Given the description of an element on the screen output the (x, y) to click on. 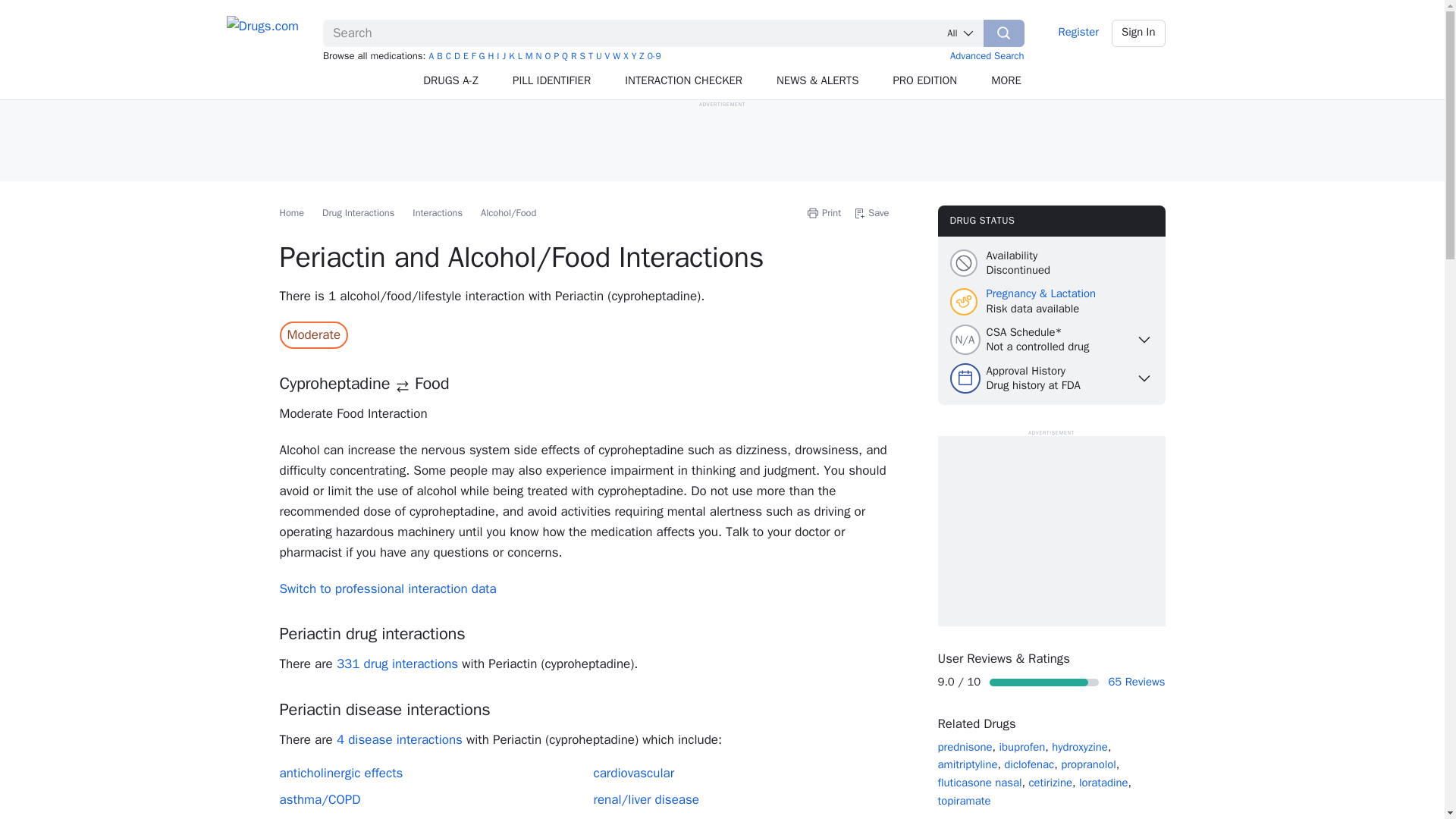
PILL IDENTIFIER (551, 81)
Register (1078, 32)
0-9 (654, 55)
DRUGS A-Z (450, 81)
Advanced Search (987, 55)
Search (1004, 32)
Sign In (1139, 32)
